Given the description of an element on the screen output the (x, y) to click on. 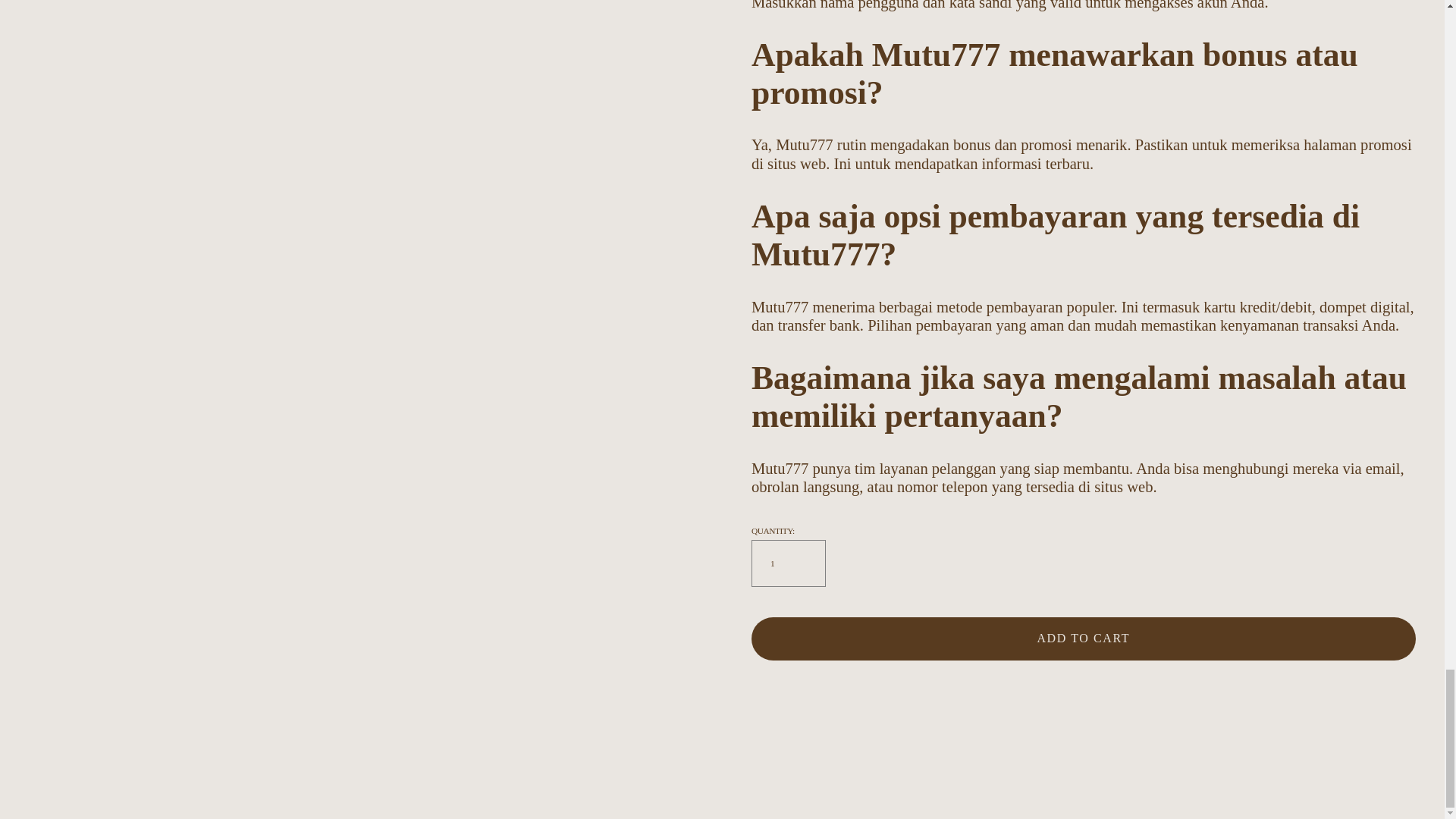
1 (788, 563)
